Given the description of an element on the screen output the (x, y) to click on. 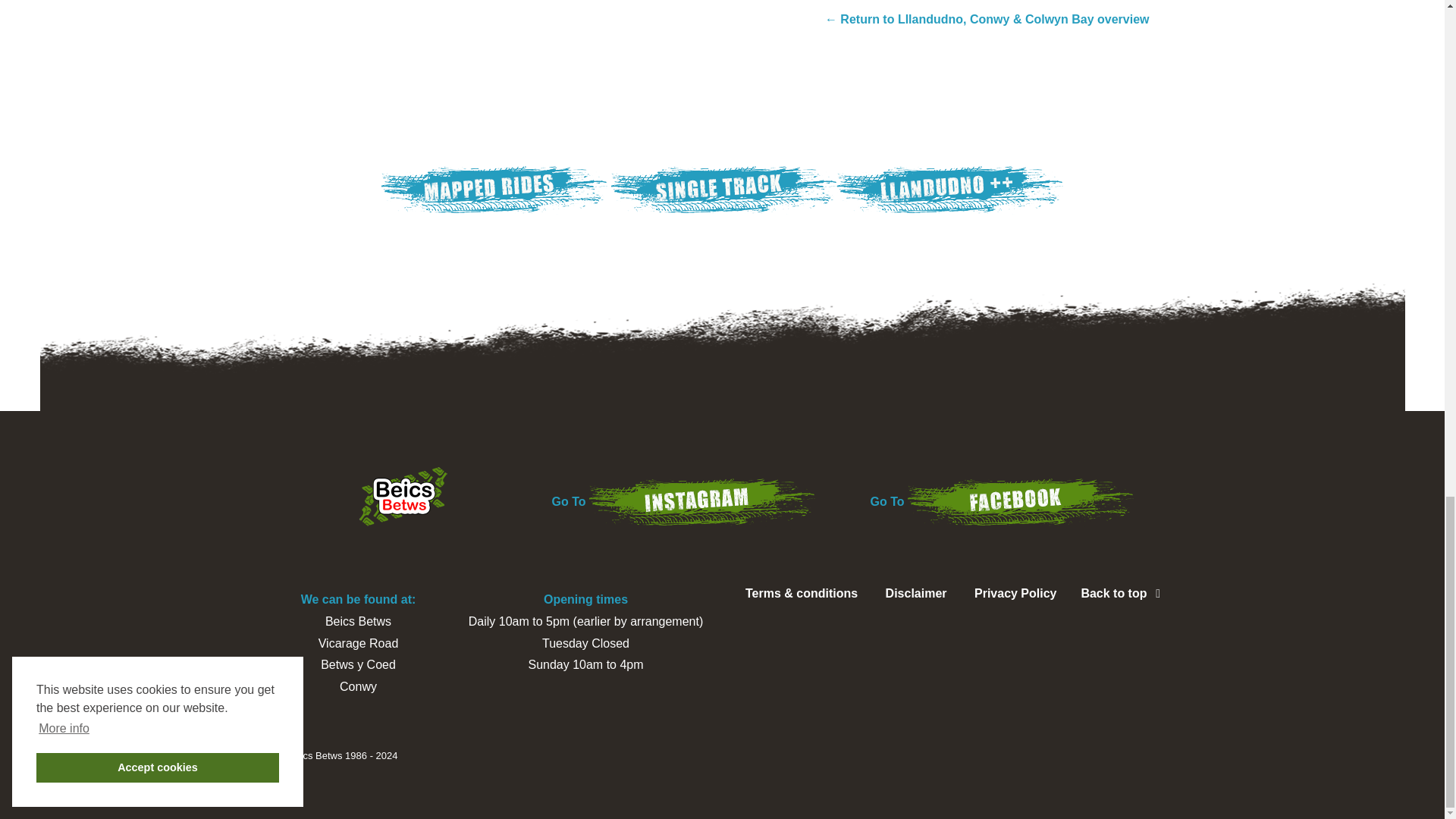
Go To Bike Wales at facebook (1020, 501)
Disclaimer (916, 596)
Privacy Policy (1015, 596)
Mapped Mountain bike Rides around Betws Y Coed (495, 188)
Back to top (1123, 593)
Disclaimer (916, 596)
Go To Bike Wales at Instagram (702, 501)
Privacy Policy (1015, 596)
